Given the description of an element on the screen output the (x, y) to click on. 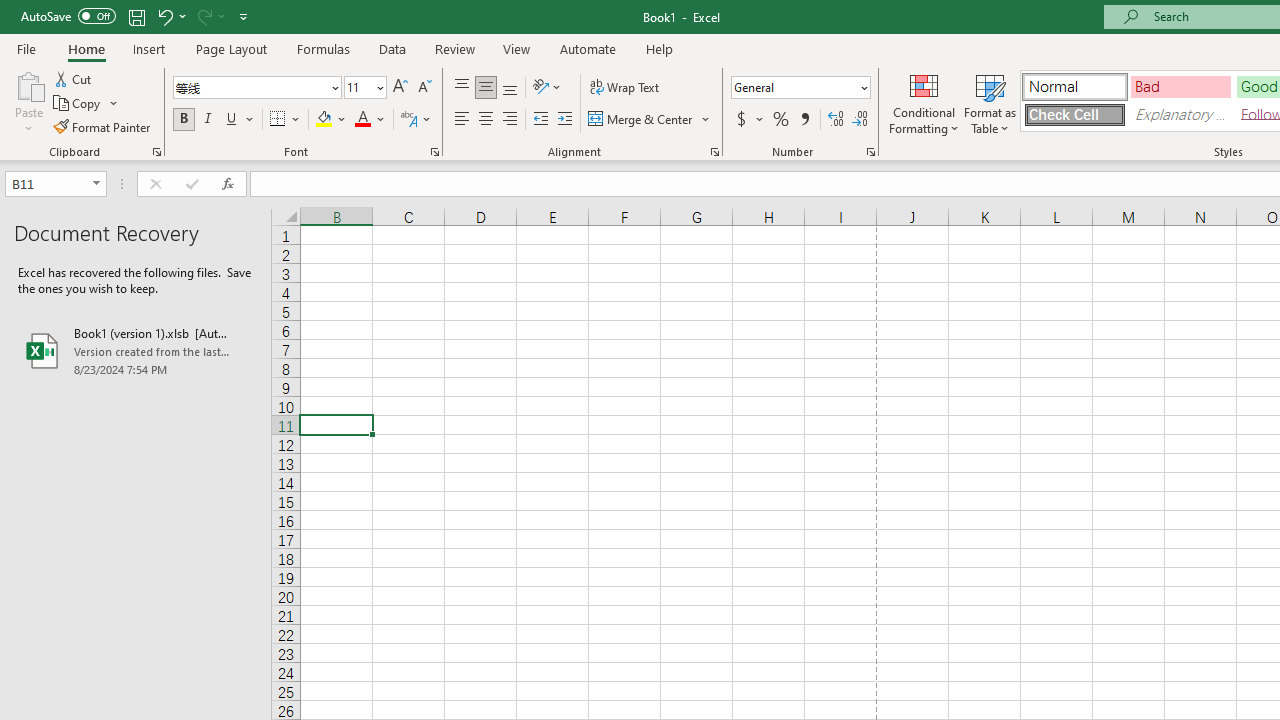
Font Size (365, 87)
Accounting Number Format (749, 119)
Increase Decimal (836, 119)
Format Cell Font (434, 151)
Show Phonetic Field (408, 119)
Decrease Indent (540, 119)
Comma Style (804, 119)
Underline (232, 119)
